Given the description of an element on the screen output the (x, y) to click on. 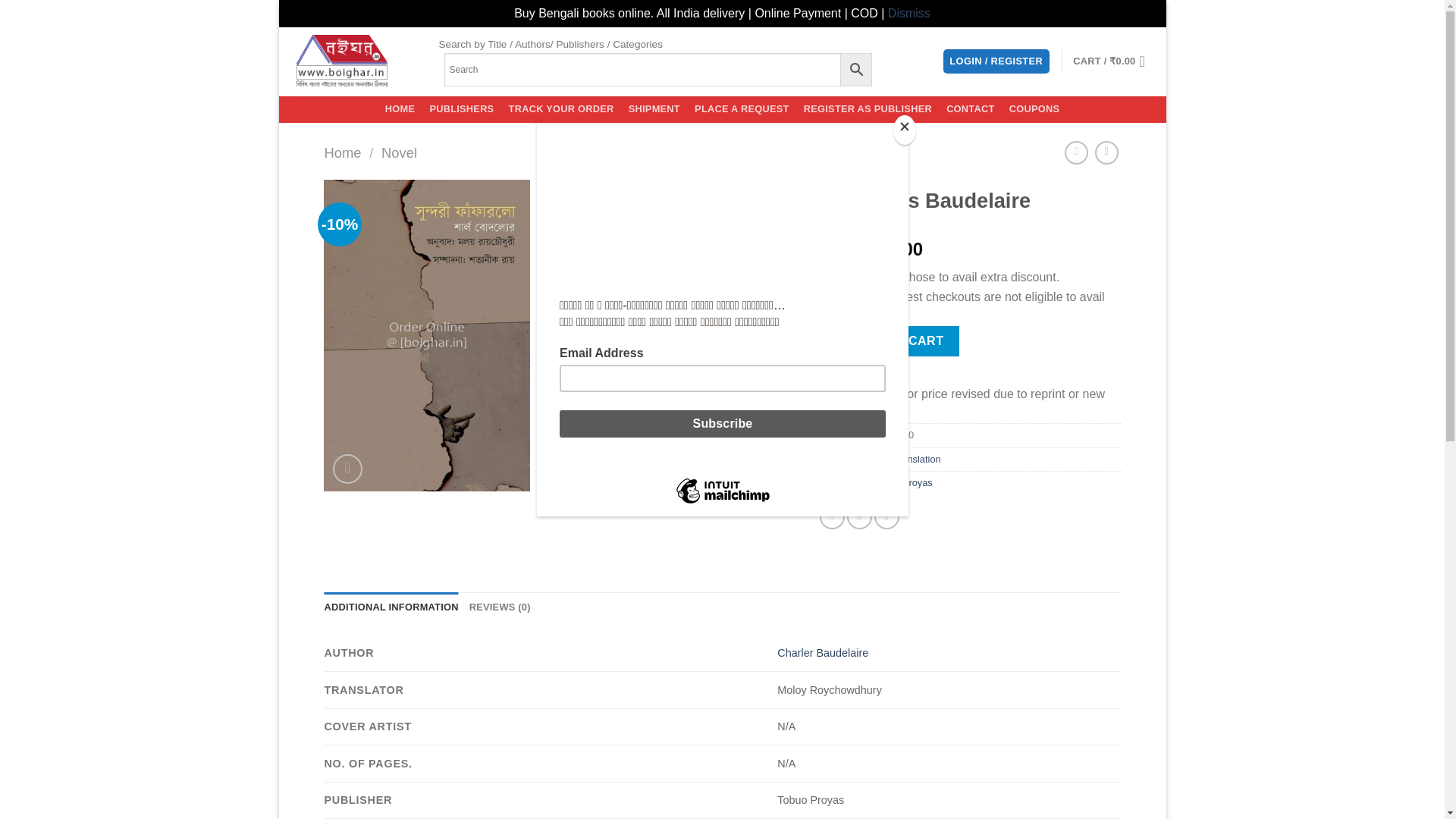
Share on Twitter (859, 516)
PUBLISHERS (461, 109)
Share on Facebook (831, 516)
PLACE A REQUEST (741, 109)
Zoom (347, 469)
SHIPMENT (654, 109)
Fiction (842, 459)
HOME (399, 109)
Shatanik Roy (838, 482)
Boighar Dot In - Buy Bengali Books Online (351, 61)
